Given the description of an element on the screen output the (x, y) to click on. 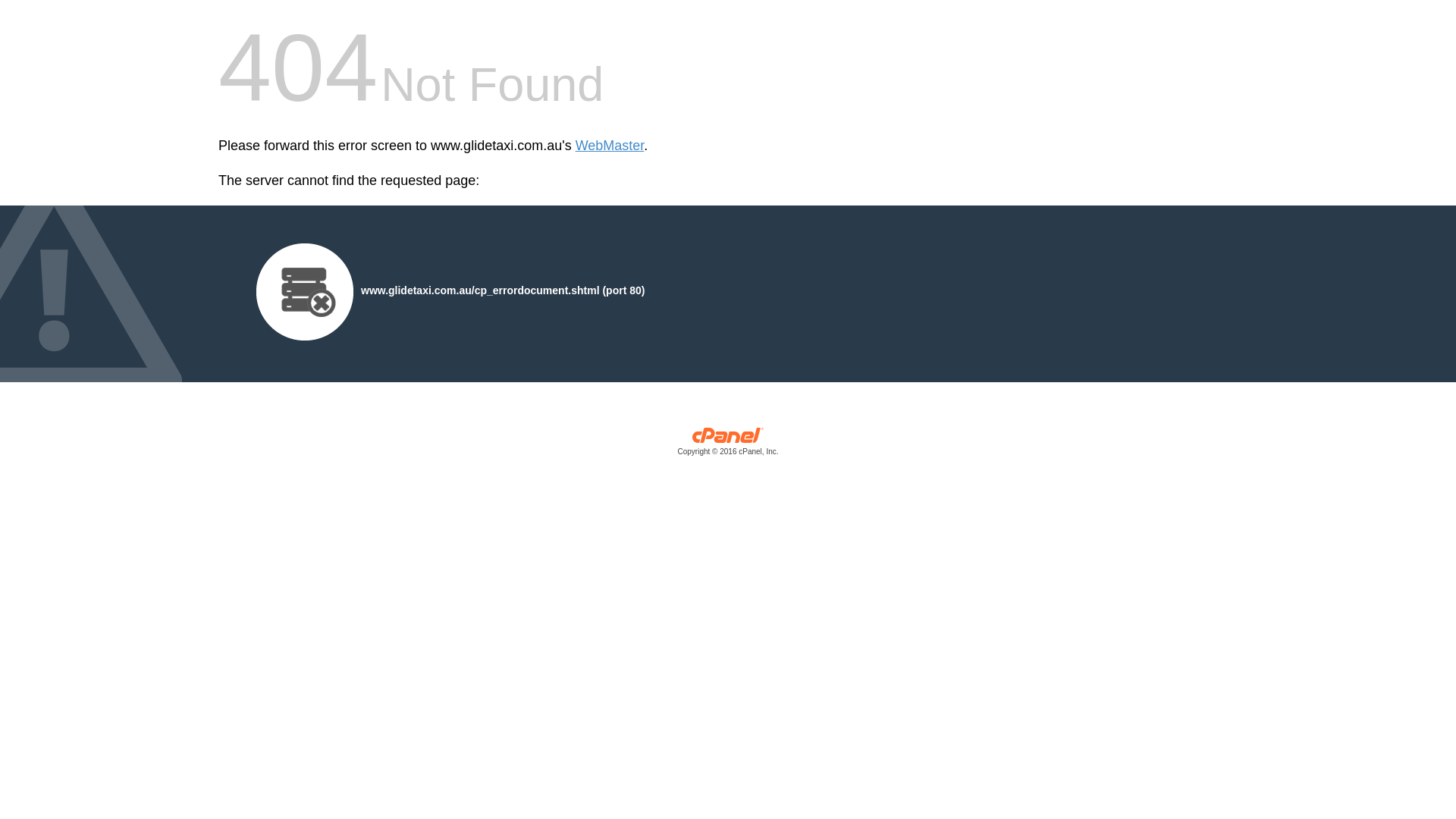
WebMaster Element type: text (609, 145)
